Given the description of an element on the screen output the (x, y) to click on. 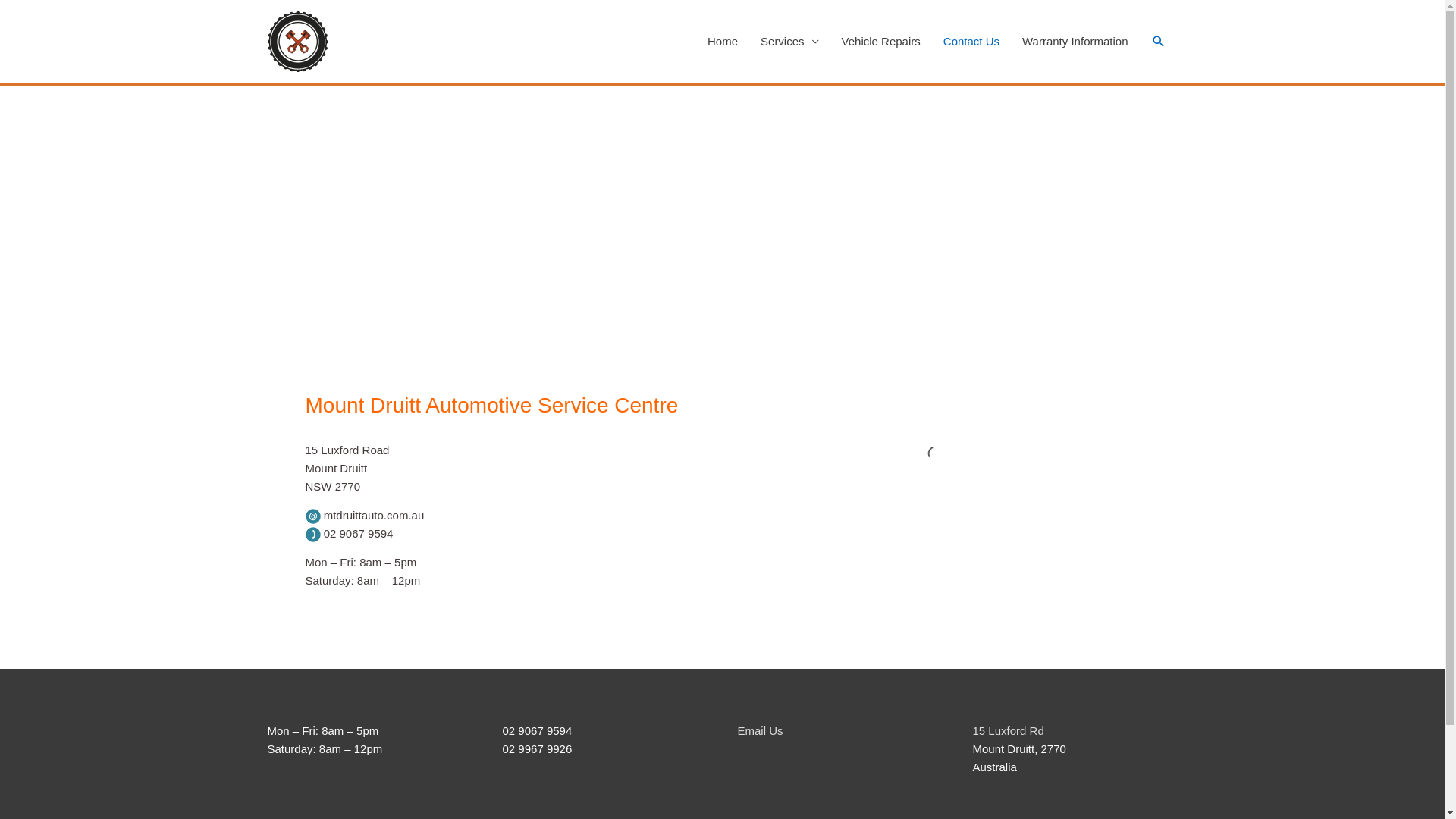
Warranty Information Element type: text (1074, 41)
Contact Us Element type: text (970, 41)
Services Element type: text (789, 41)
Home Element type: text (722, 41)
15 Luxford Road, Mount Druitt NSW 2770 Element type: hover (722, 256)
Email Us Element type: text (759, 730)
Search Element type: text (1158, 41)
Vehicle Repairs Element type: text (880, 41)
15 Luxford Rd Element type: text (1007, 730)
